Given the description of an element on the screen output the (x, y) to click on. 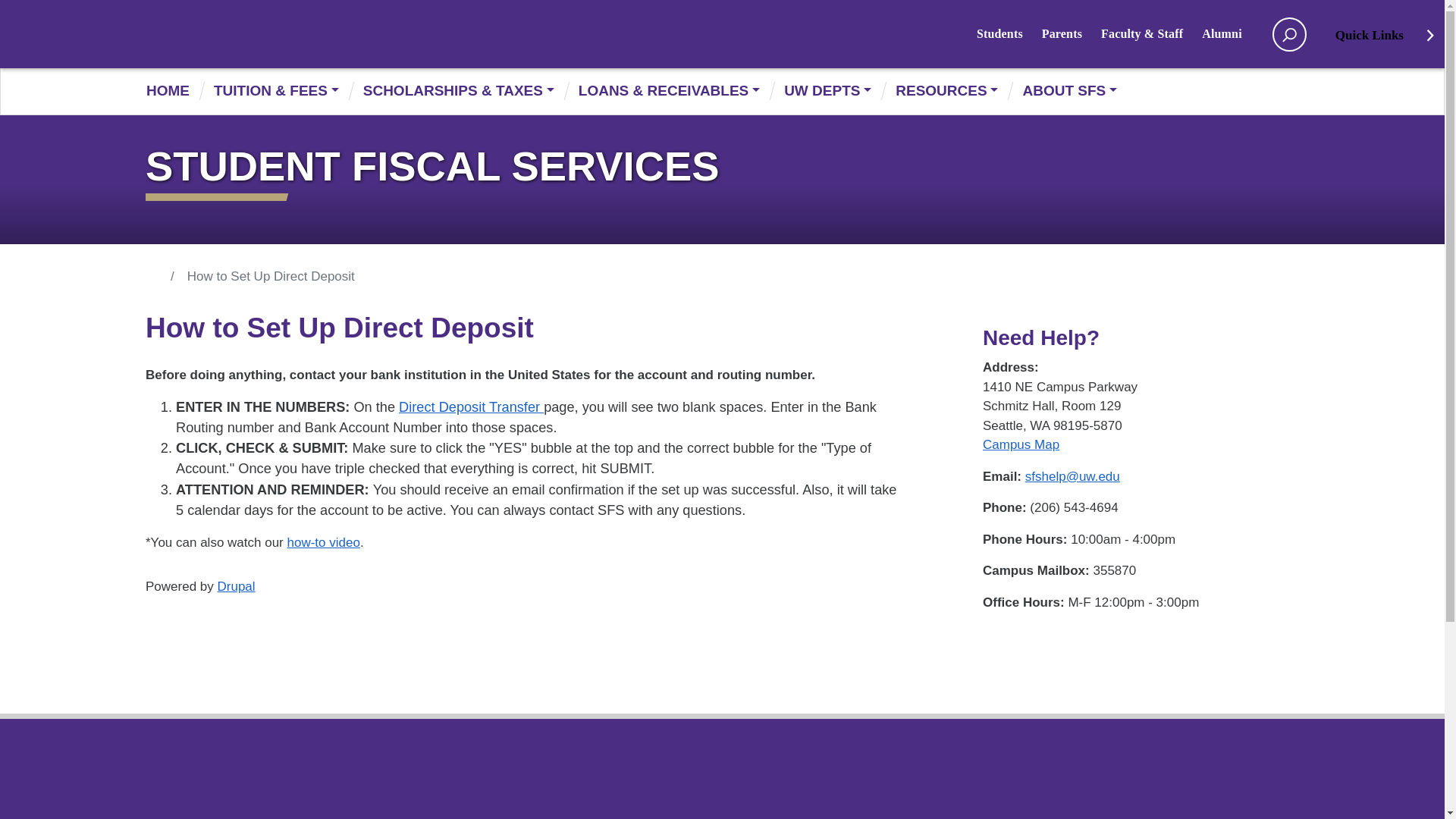
University of Washington (194, 33)
Parents (1071, 33)
HOME (174, 91)
University of Washington Home (194, 33)
University of Washington Home (371, 35)
Alumni (1231, 33)
University of Washington (371, 35)
Students (1009, 33)
